Given the description of an element on the screen output the (x, y) to click on. 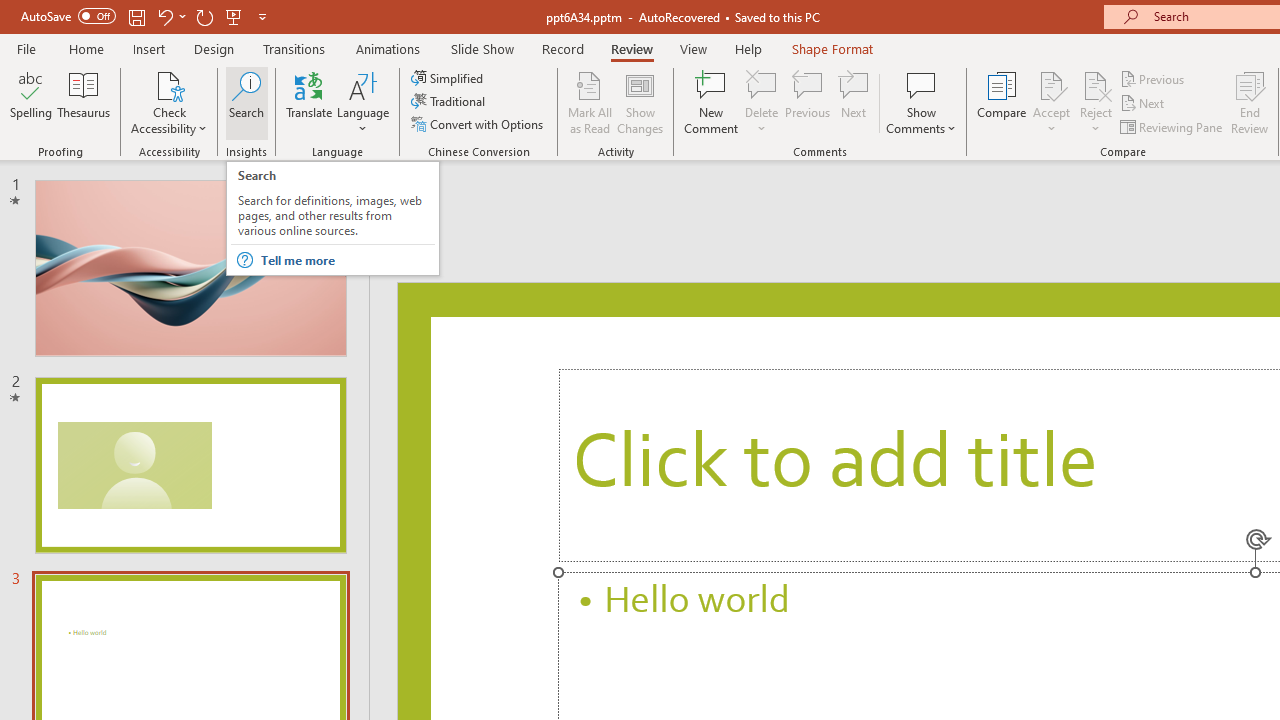
Reviewing Pane (1172, 126)
Previous (1153, 78)
New Comment (711, 102)
Spelling... (31, 102)
Convert with Options... (479, 124)
Accept Change (1051, 84)
Compare (1002, 102)
Translate (309, 102)
Thesaurus... (83, 102)
